Given the description of an element on the screen output the (x, y) to click on. 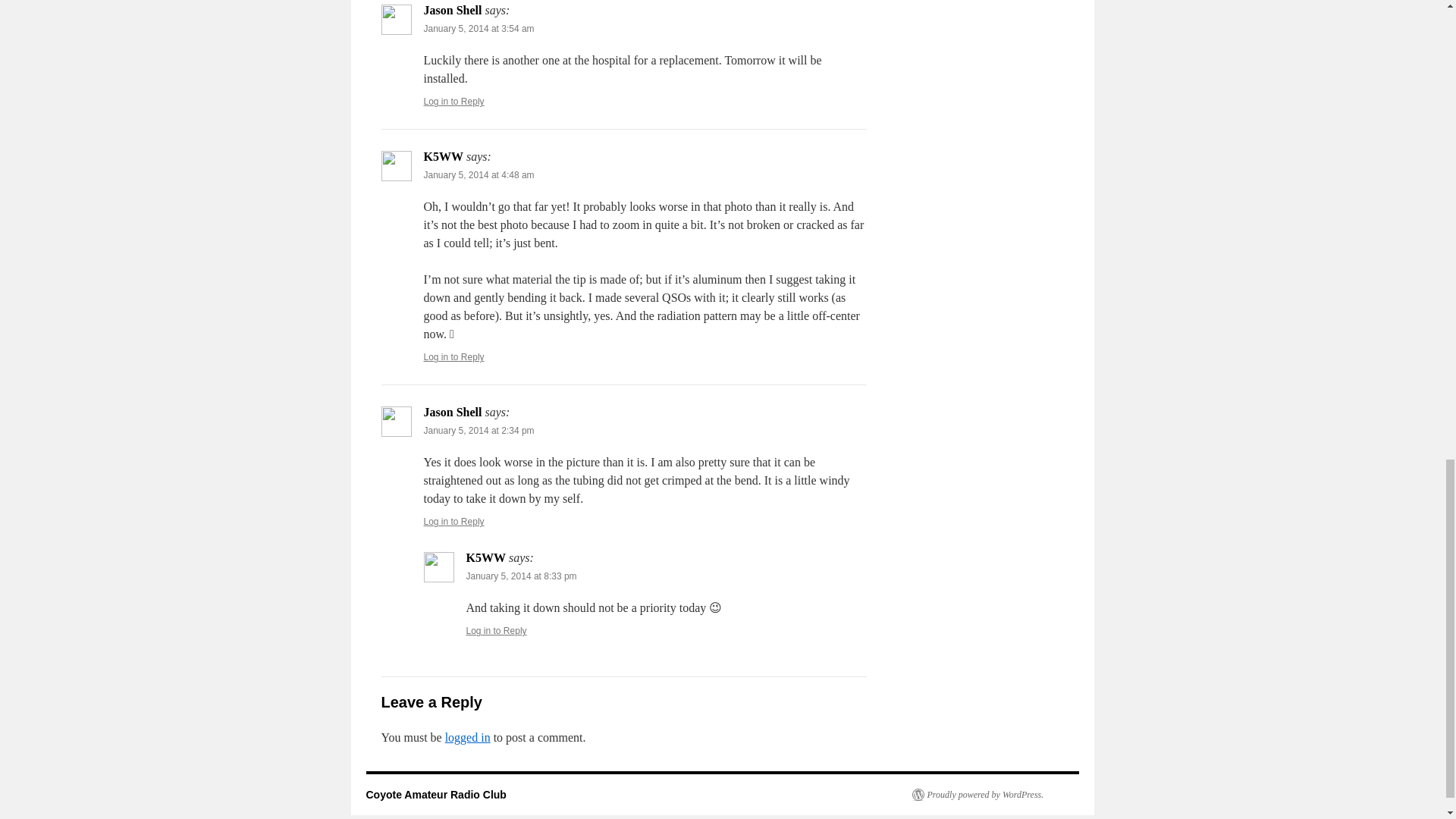
Log in to Reply (453, 101)
January 5, 2014 at 2:34 pm (478, 430)
Semantic Personal Publishing Platform (977, 794)
January 5, 2014 at 8:33 pm (520, 575)
January 5, 2014 at 4:48 am (478, 174)
logged in (467, 737)
Log in to Reply (495, 630)
Log in to Reply (453, 521)
January 5, 2014 at 3:54 am (478, 28)
Log in to Reply (453, 357)
